Given the description of an element on the screen output the (x, y) to click on. 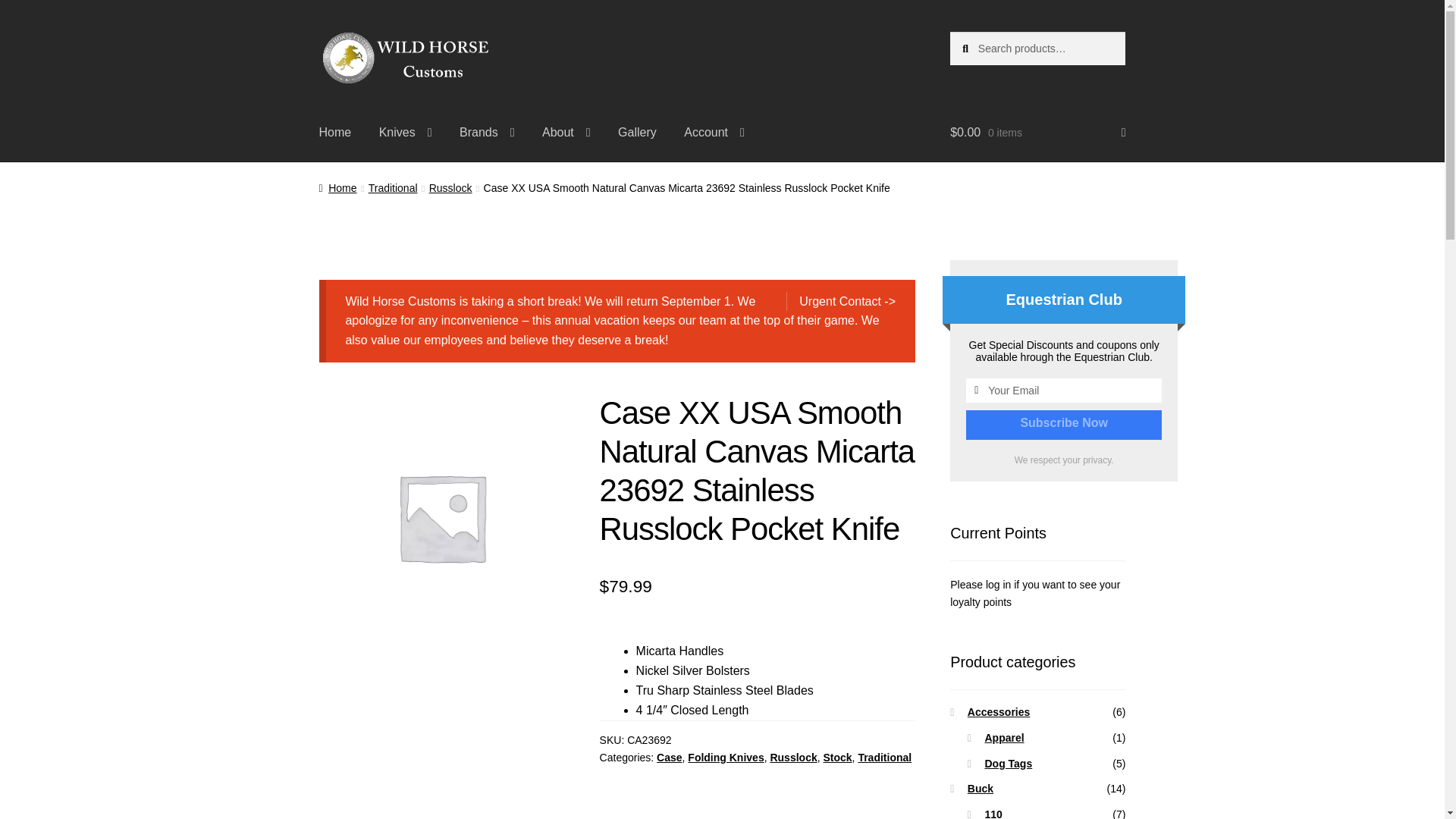
Gallery (636, 132)
Subscribe Now (1063, 422)
Knives (405, 132)
Home (335, 132)
View your shopping cart (1037, 132)
Brands (486, 132)
Account (714, 132)
About (565, 132)
